Given the description of an element on the screen output the (x, y) to click on. 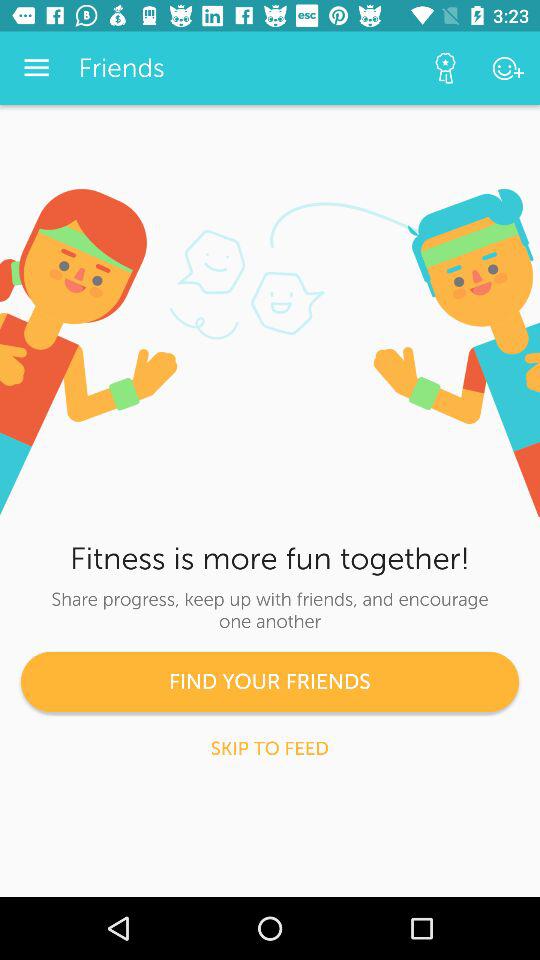
swipe to the skip to feed (269, 748)
